Given the description of an element on the screen output the (x, y) to click on. 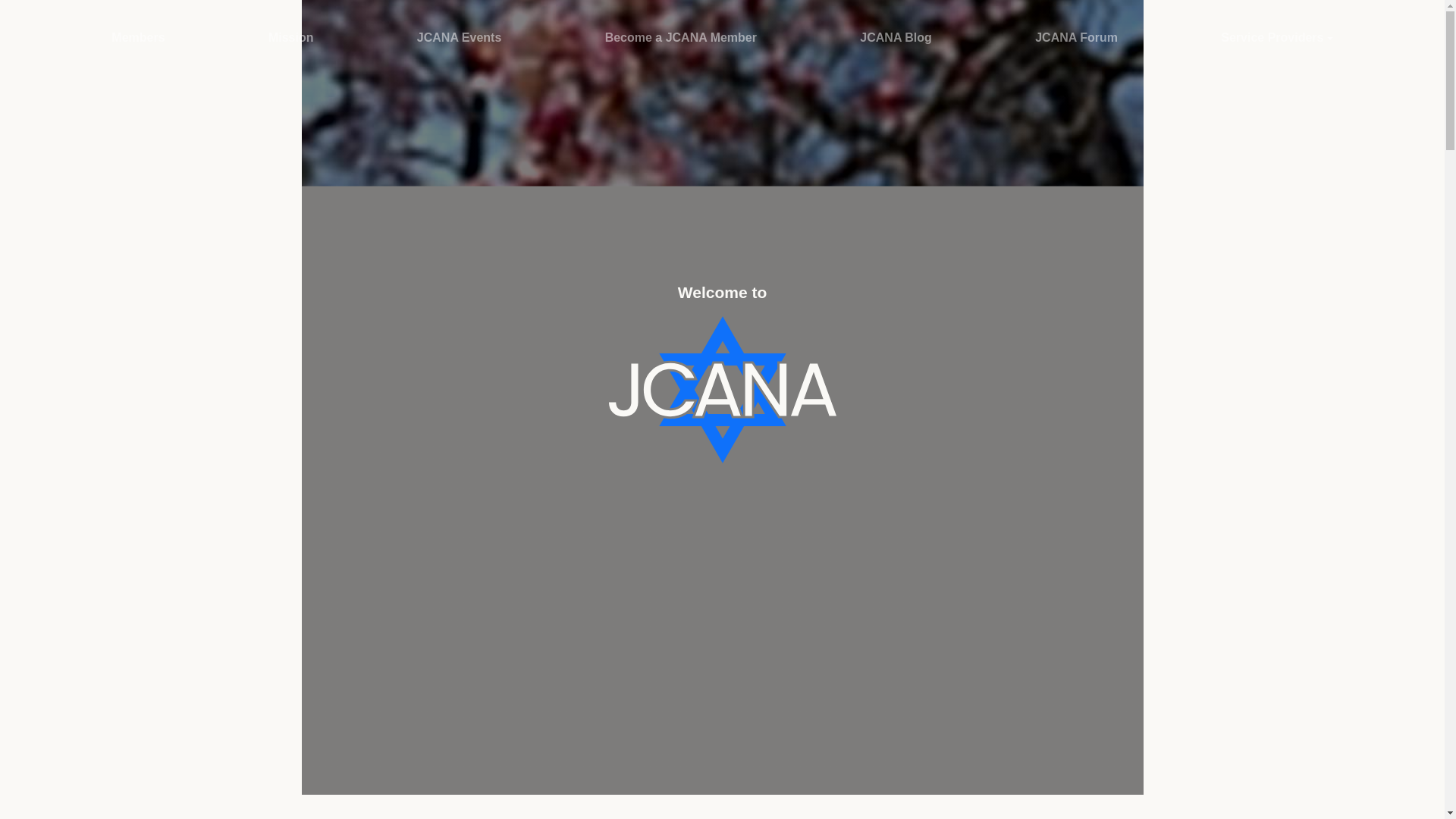
JCANA Forum (1076, 37)
Members (138, 37)
JCANA Events (458, 37)
JCANA Events (458, 37)
Members (138, 37)
JCANA Blog (895, 37)
Mission (290, 37)
Service Providers (1276, 37)
Become a JCANA Member (681, 37)
JCANA Forum (1076, 37)
Service Providers (1276, 37)
JCANA Blog (895, 37)
Mission (290, 37)
Become a JCANA Member (681, 37)
